Given the description of an element on the screen output the (x, y) to click on. 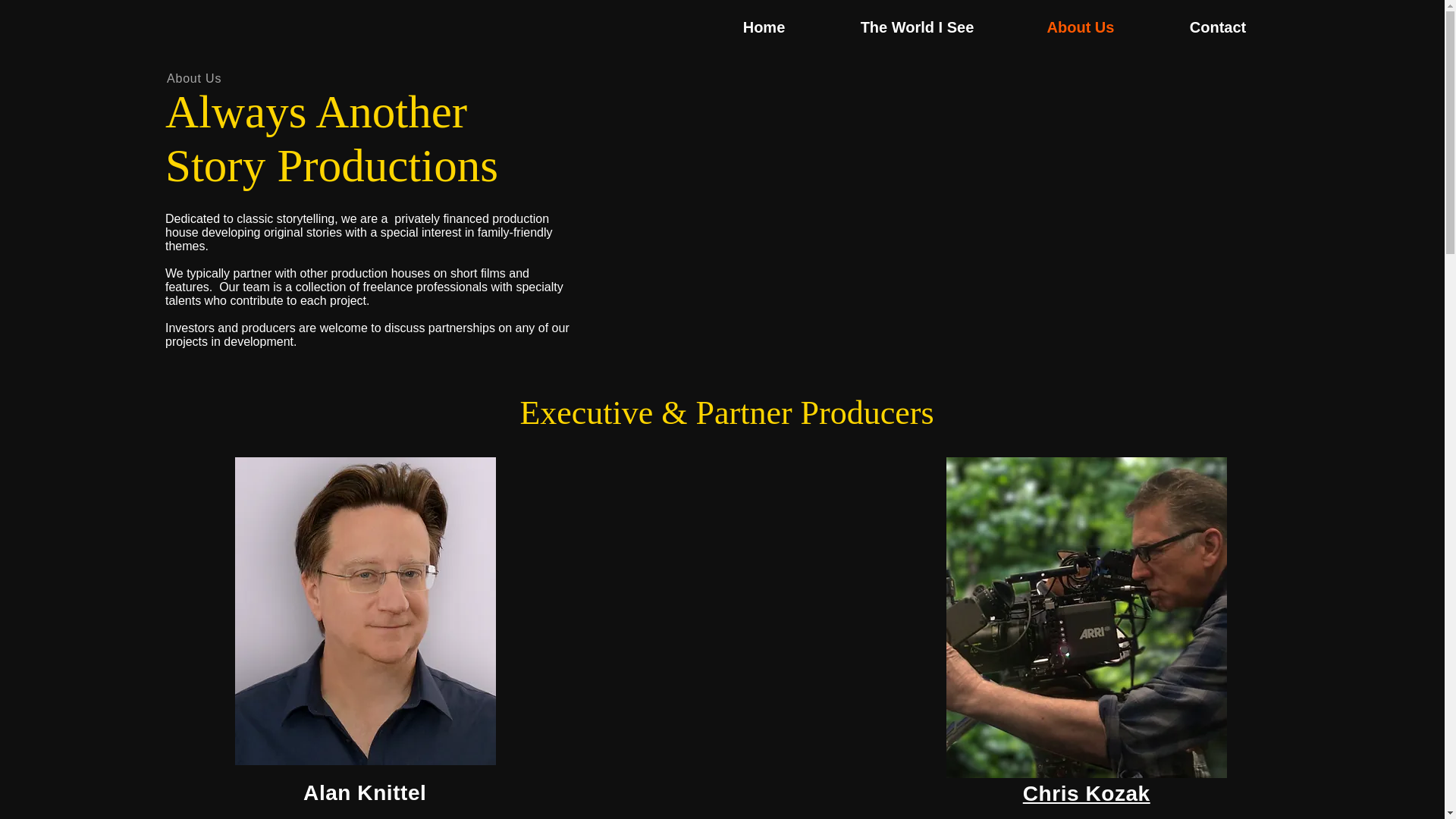
The World I See (917, 26)
Home (764, 26)
Contact (1217, 26)
Chris Kozak (1086, 793)
About Us (1080, 26)
